Given the description of an element on the screen output the (x, y) to click on. 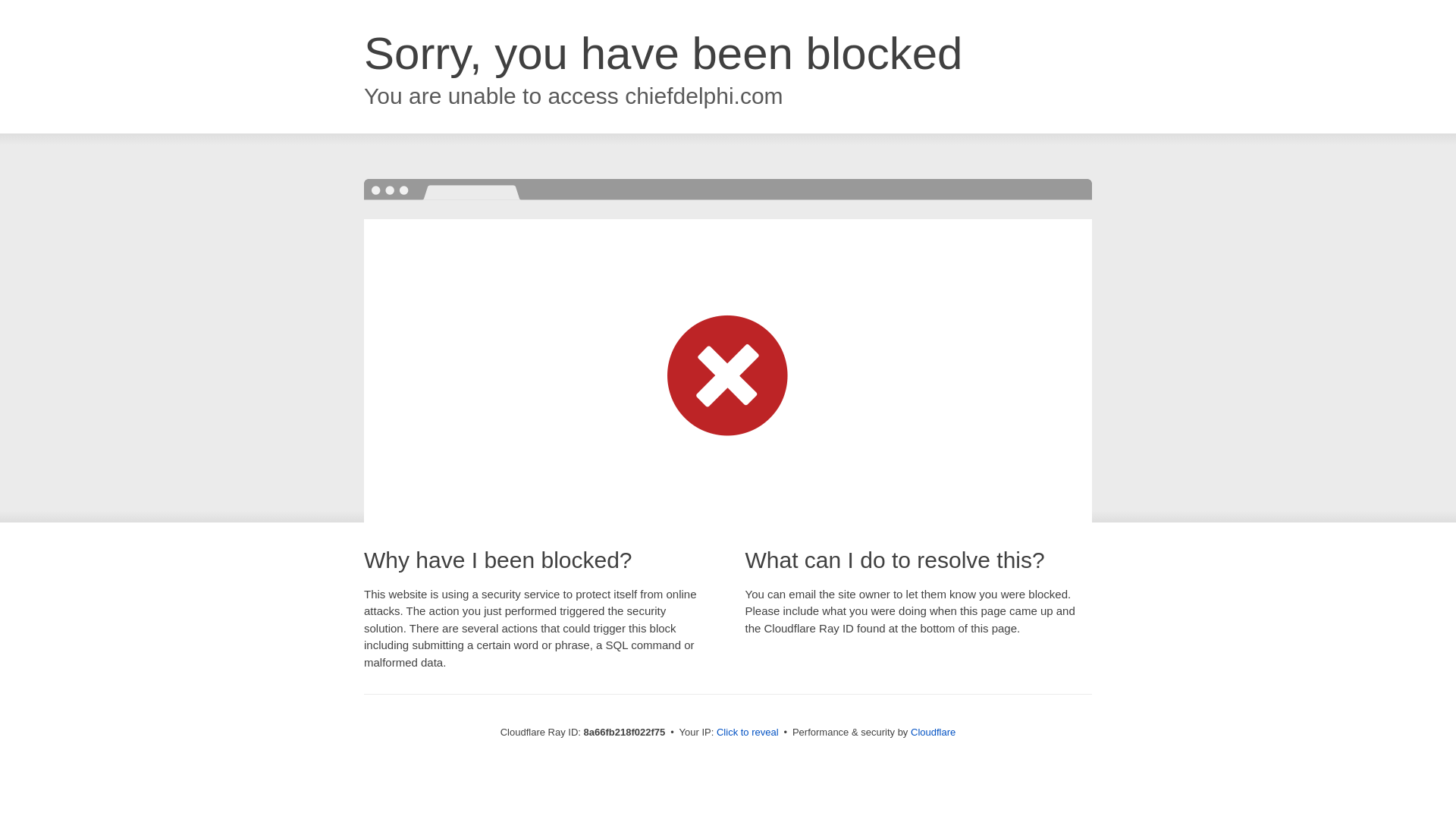
Click to reveal (747, 732)
Cloudflare (933, 731)
